Given the description of an element on the screen output the (x, y) to click on. 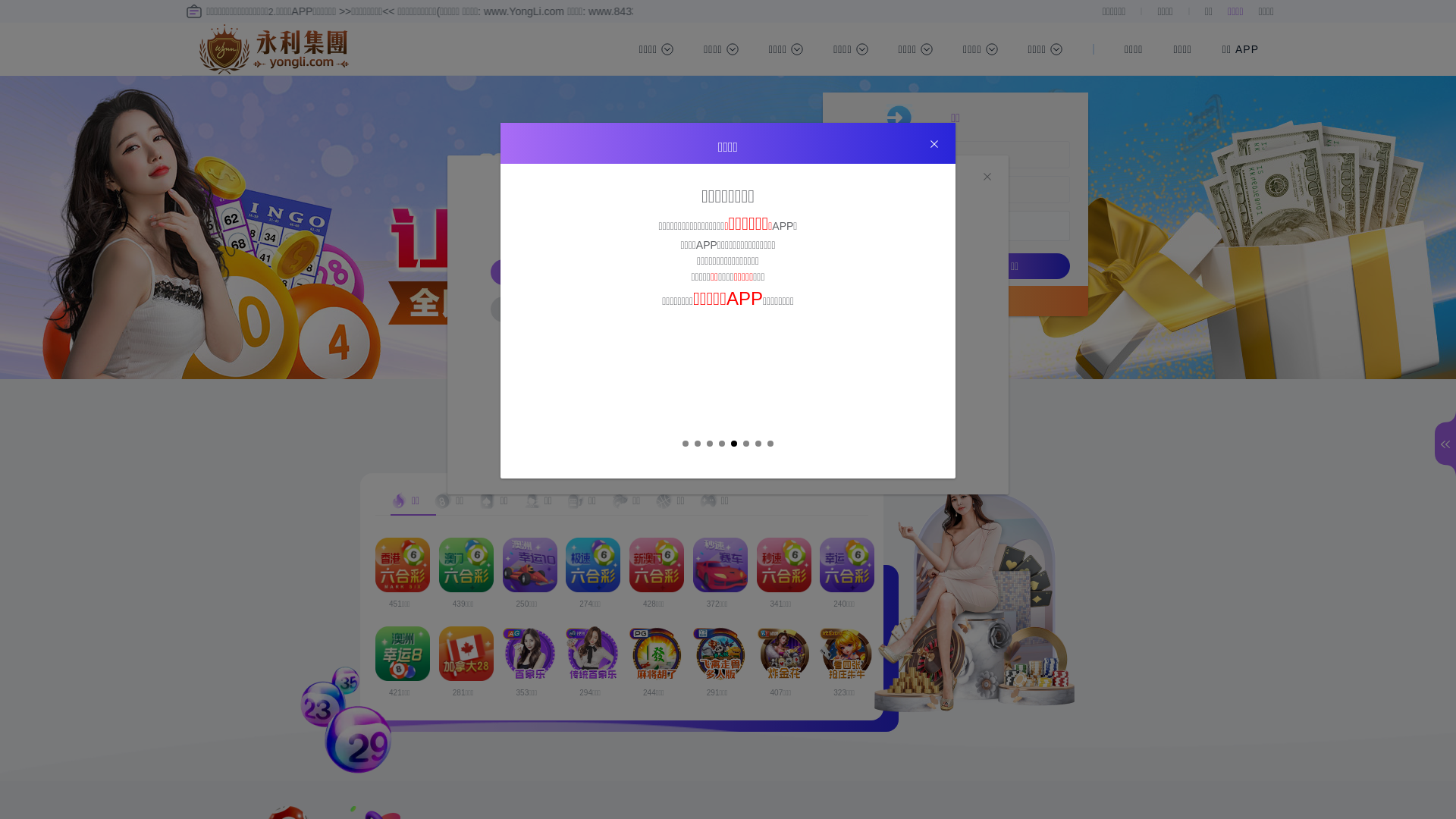
www.8433.com Element type: text (743, 287)
www.5558433.com Element type: text (743, 308)
www.6668433.com Element type: text (743, 328)
www.8433.cc Element type: text (743, 369)
jituanyongli@gmail.com Element type: text (755, 390)
www.YongLi.com Element type: text (743, 267)
www.8888433.com Element type: text (743, 349)
